Given the description of an element on the screen output the (x, y) to click on. 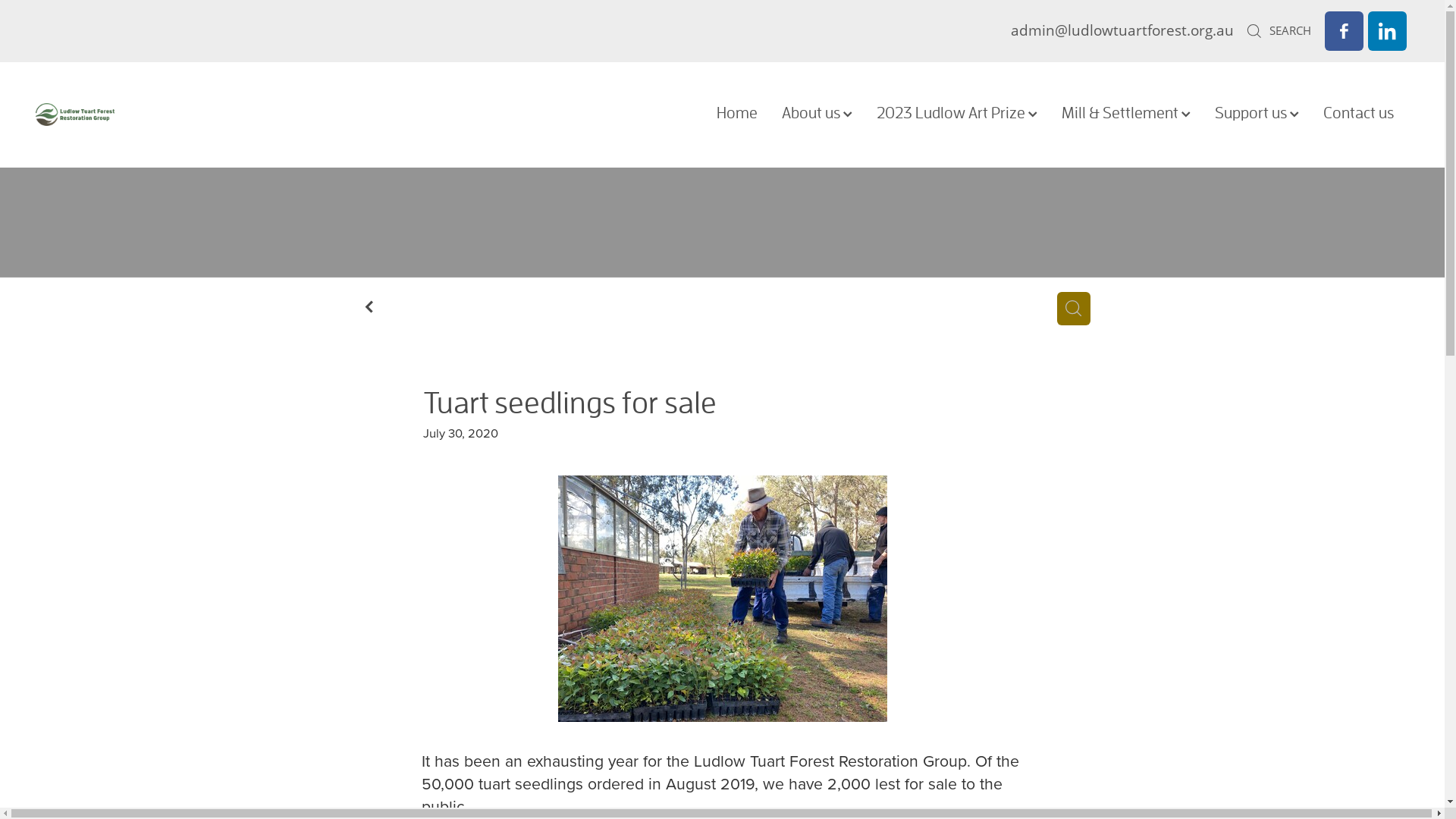
A link to this website's Facebook. Element type: hover (1343, 30)
A link to this website's LinkedIn. Element type: hover (1387, 30)
2023 Ludlow Art Prize Element type: text (956, 112)
admin@ludlowtuartforest.org.au Element type: text (1121, 30)
SEARCH Element type: text (1278, 29)
About us Element type: text (816, 112)
Home Element type: text (736, 112)
Mill & Settlement Element type: text (1125, 112)
f Element type: text (369, 305)
Support us Element type: text (1256, 112)
Contact us Element type: text (1358, 112)
